Given the description of an element on the screen output the (x, y) to click on. 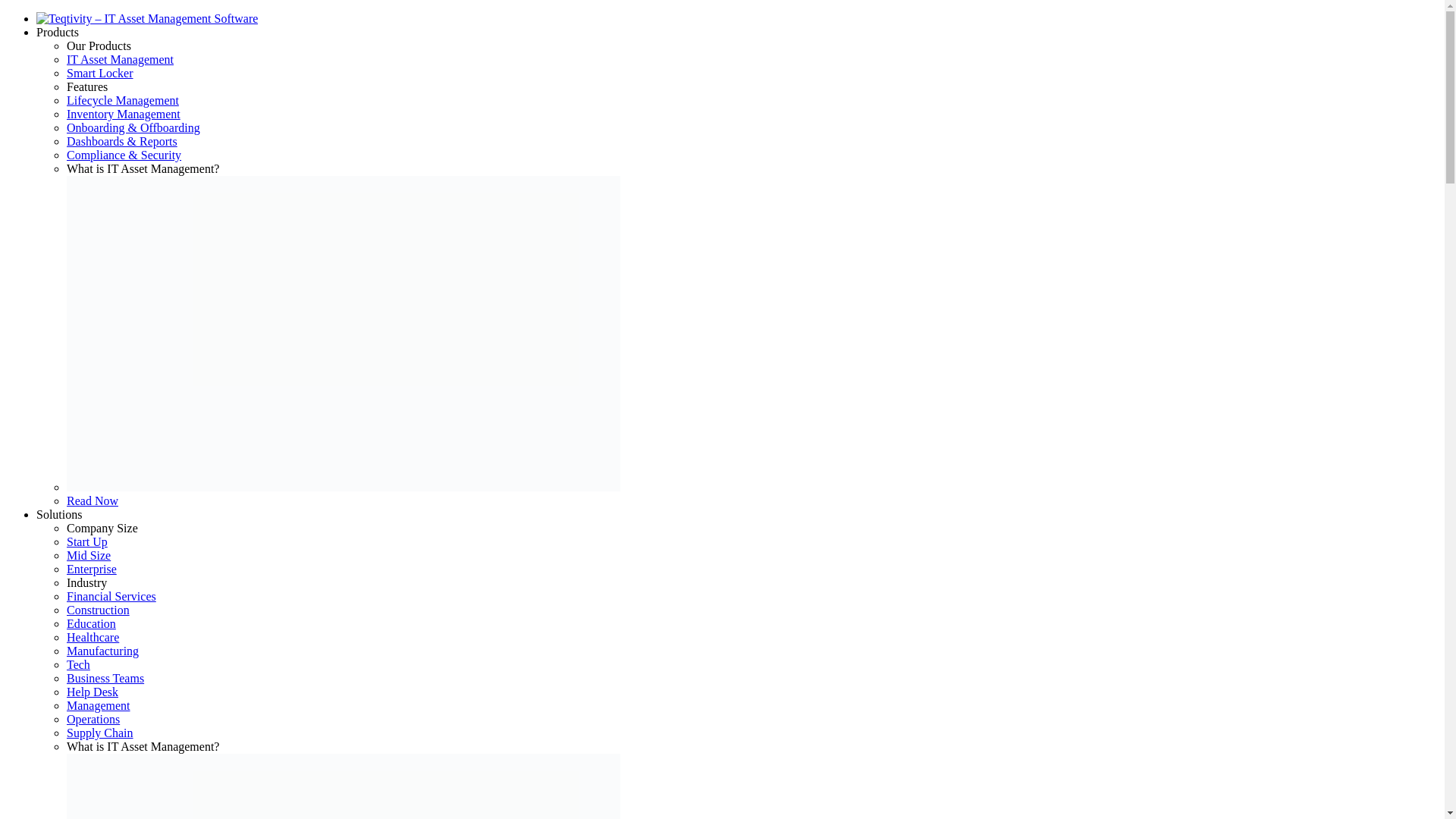
Inventory Management (123, 113)
Company Size (102, 527)
Financial Services (110, 595)
Manufacturing (102, 650)
Help Desk (91, 691)
Tech (78, 664)
Operations (92, 718)
Read Now (91, 500)
Solutions (58, 513)
Start Up (86, 541)
IT Asset Management (119, 59)
Business Teams (105, 677)
Construction (97, 609)
Enterprise (91, 568)
Smart Locker (99, 72)
